Given the description of an element on the screen output the (x, y) to click on. 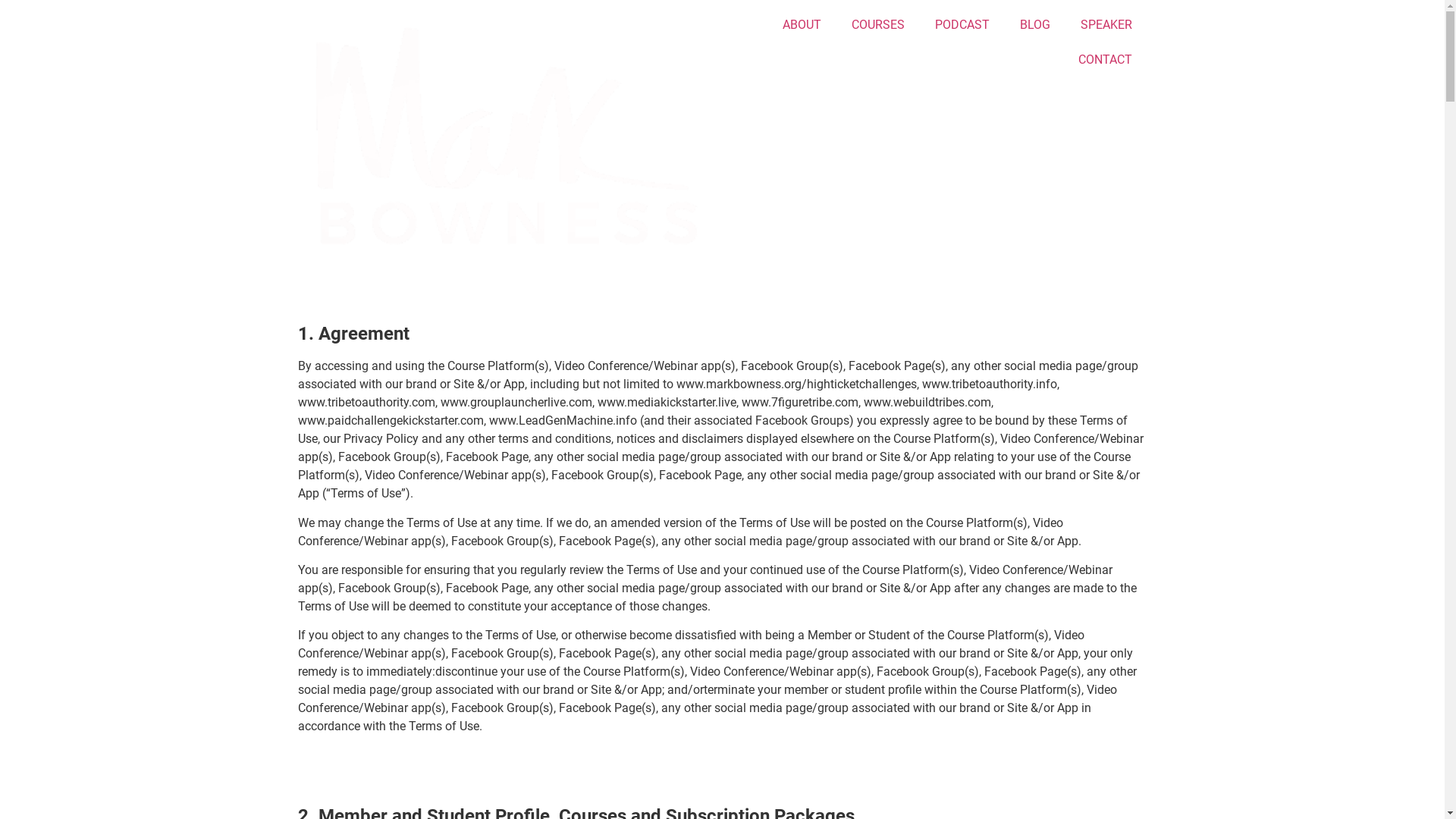
ABOUT Element type: text (801, 24)
CONTACT Element type: text (1105, 59)
PODCAST Element type: text (961, 24)
SPEAKER Element type: text (1105, 24)
BLOG Element type: text (1034, 24)
COURSES Element type: text (877, 24)
